Given the description of an element on the screen output the (x, y) to click on. 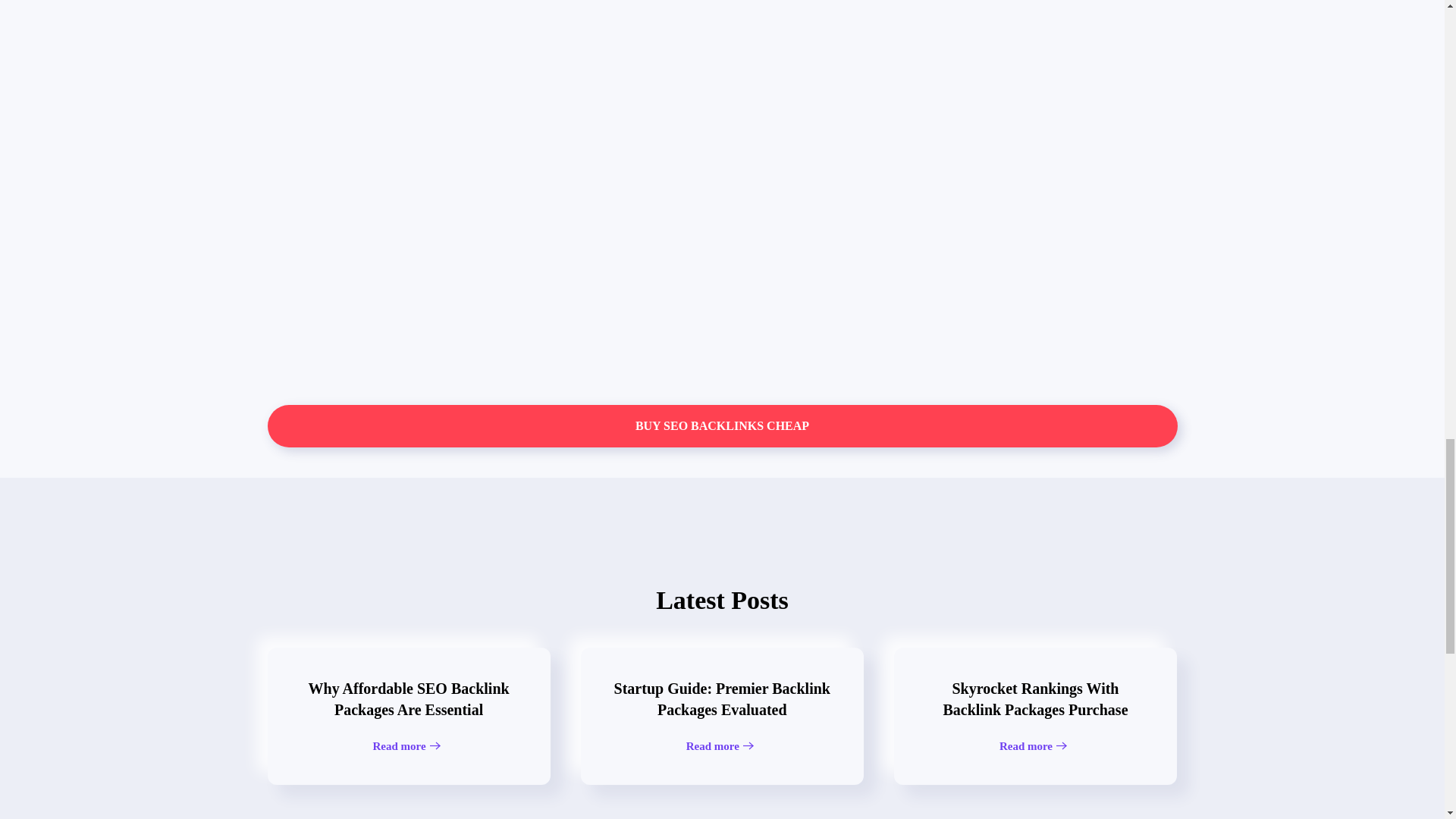
BUY SEO BACKLINKS CHEAP (721, 425)
BUY SEO BACKLINKS CHEAP (1034, 715)
